Given the description of an element on the screen output the (x, y) to click on. 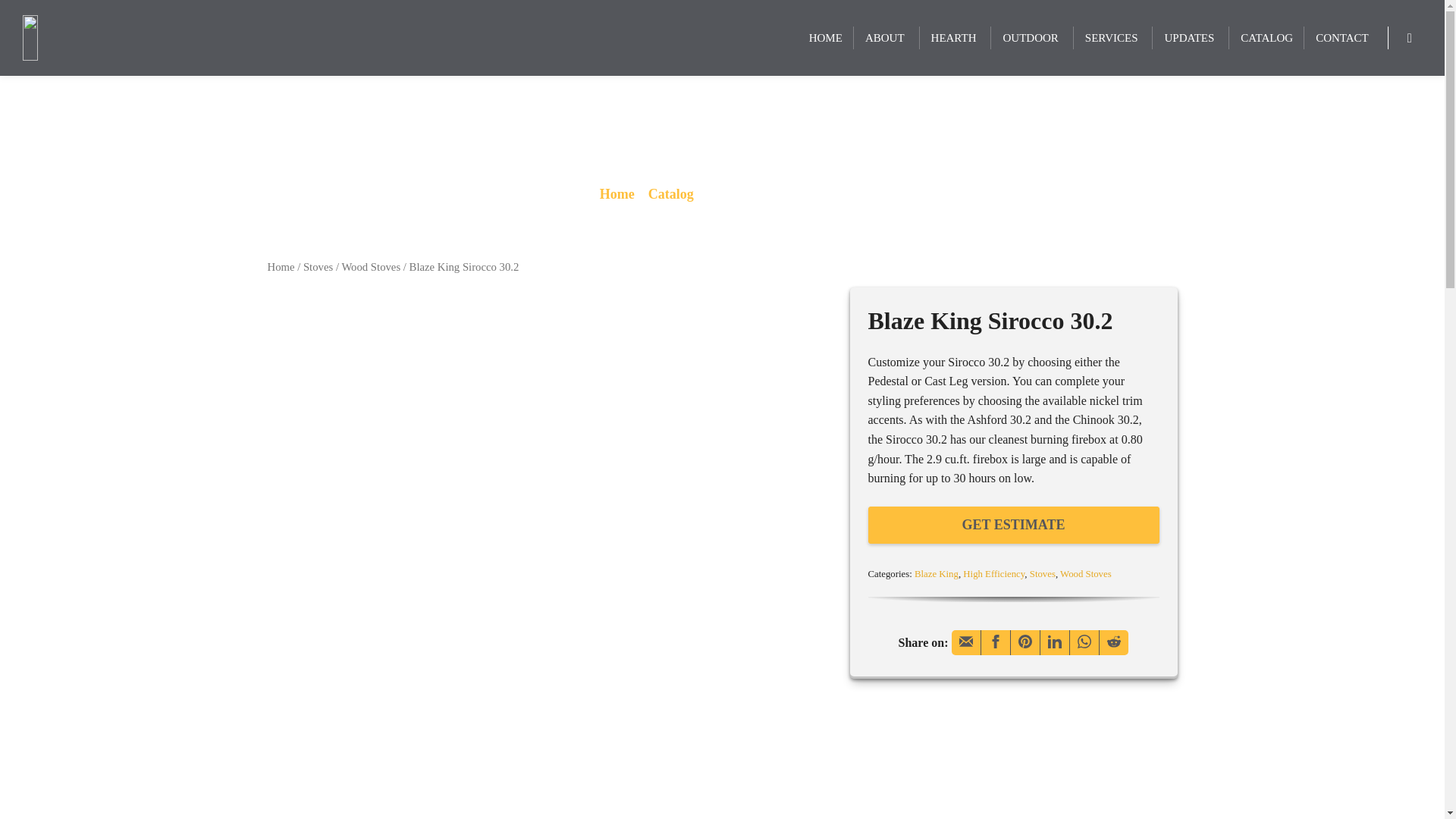
HEARTH (955, 37)
ABOUT (886, 37)
SERVICES (1112, 37)
HOME (826, 37)
UPDATES (1190, 37)
OUTDOOR (1032, 37)
